Given the description of an element on the screen output the (x, y) to click on. 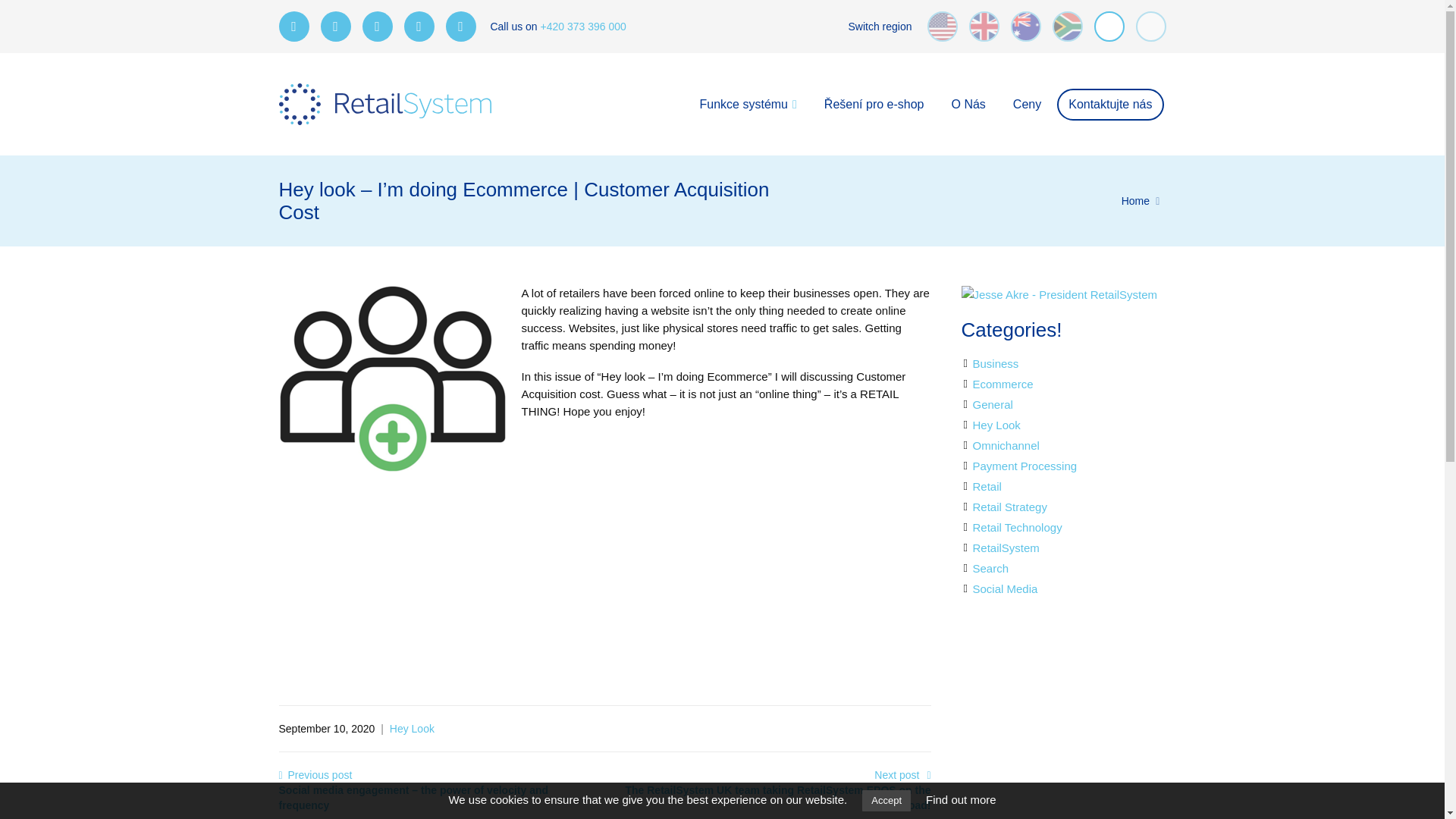
Home (1135, 200)
Retail Technology (1016, 526)
RetailSystem Czech Republic (385, 104)
Hey Look (996, 424)
Payment Processing (1024, 465)
Retail Strategy (1009, 506)
Omnichannel (1005, 445)
Hey Look - I'm Doing Ecommerce - Customer Acquisition Cost (711, 571)
Home (1135, 200)
